Given the description of an element on the screen output the (x, y) to click on. 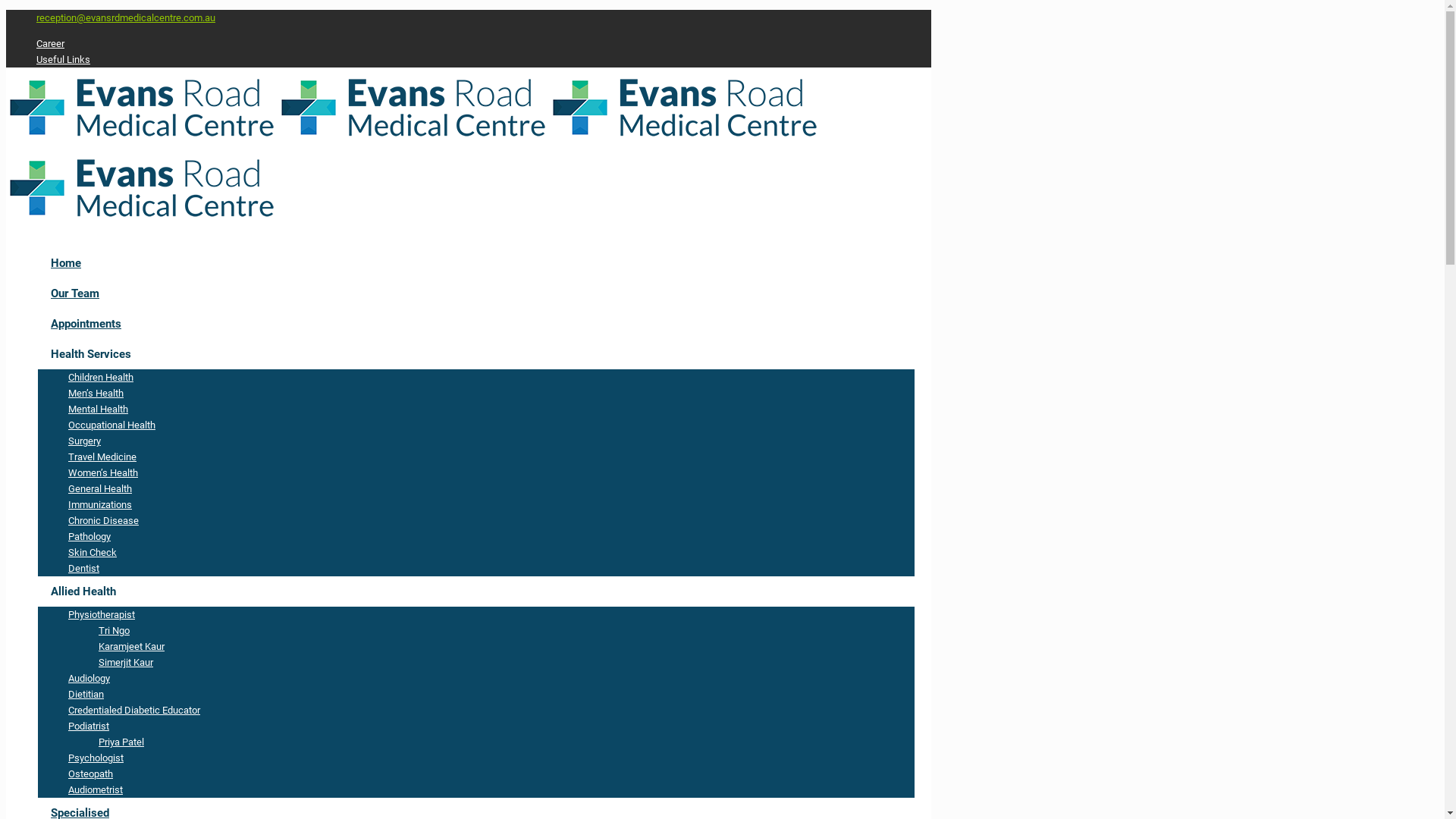
Audiology Element type: text (88, 678)
Podiatrist Element type: text (88, 725)
Dentist Element type: text (83, 568)
Children Health Element type: text (100, 376)
Skin Check Element type: text (92, 552)
Physiotherapist Element type: text (101, 614)
Audiometrist Element type: text (95, 789)
Pathology Element type: text (89, 536)
Dietitian Element type: text (85, 693)
Immunizations Element type: text (99, 504)
Career Element type: text (50, 43)
Osteopath Element type: text (90, 773)
Psychologist Element type: text (95, 757)
Our Team Element type: text (74, 293)
Allied Health Element type: text (82, 591)
Karamjeet Kaur Element type: text (131, 646)
reception@evansrdmedicalcentre.com.au Element type: text (125, 17)
Simerjit Kaur Element type: text (125, 662)
Tri Ngo Element type: text (113, 630)
Mental Health Element type: text (98, 408)
Chronic Disease Element type: text (103, 520)
Appointments Element type: text (85, 323)
Useful Links Element type: text (63, 59)
General Health Element type: text (99, 488)
Evans Road Medical Centre Element type: hover (413, 174)
Occupational Health Element type: text (111, 424)
Home Element type: text (65, 262)
Health Services Element type: text (90, 353)
Priya Patel Element type: text (121, 741)
Travel Medicine Element type: text (102, 456)
Surgery Element type: text (84, 440)
Credentialed Diabetic Educator Element type: text (134, 709)
